Given the description of an element on the screen output the (x, y) to click on. 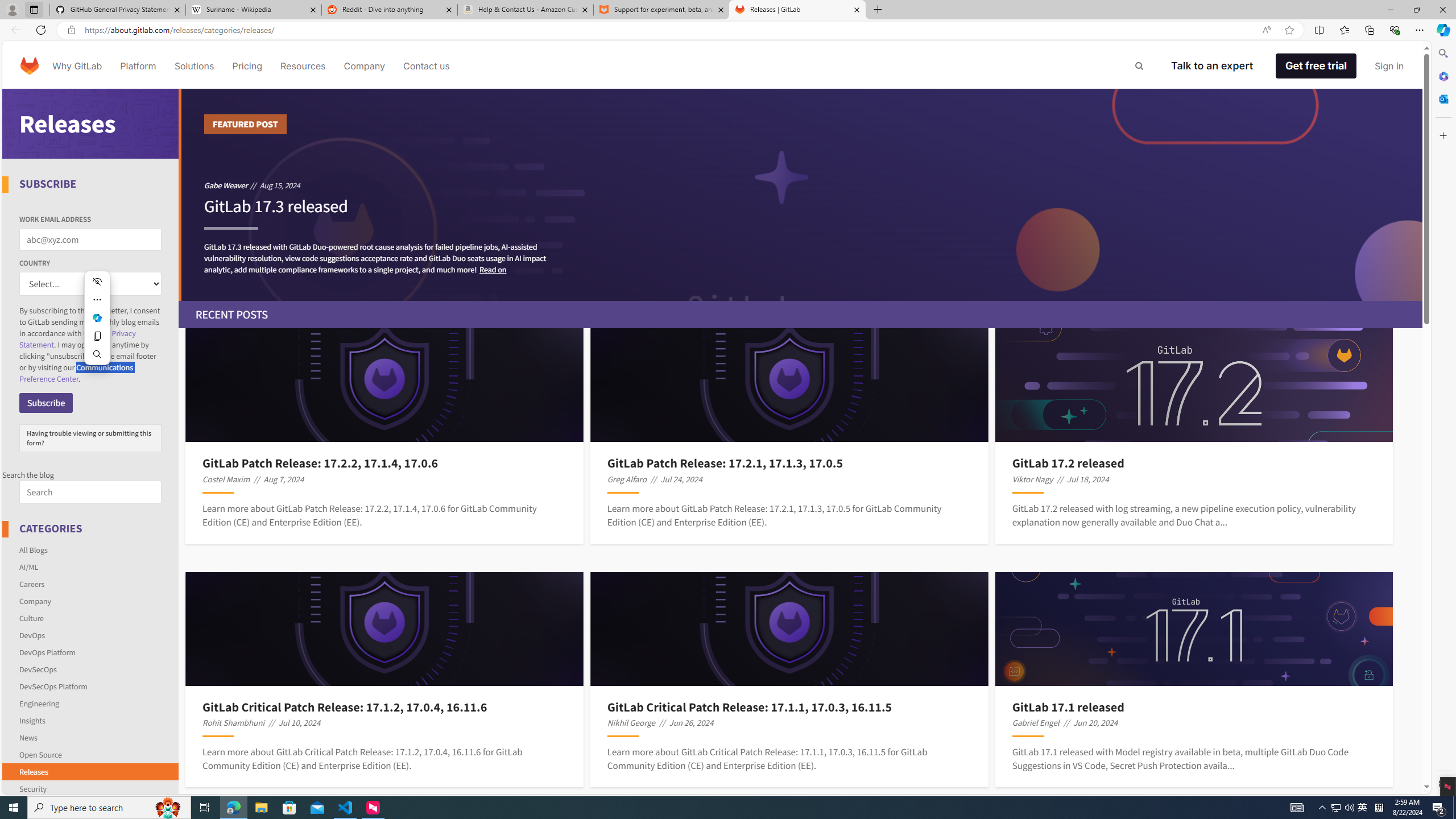
Nikhil George (631, 722)
Insights (31, 720)
Rohit Shambhuni (233, 722)
